Given the description of an element on the screen output the (x, y) to click on. 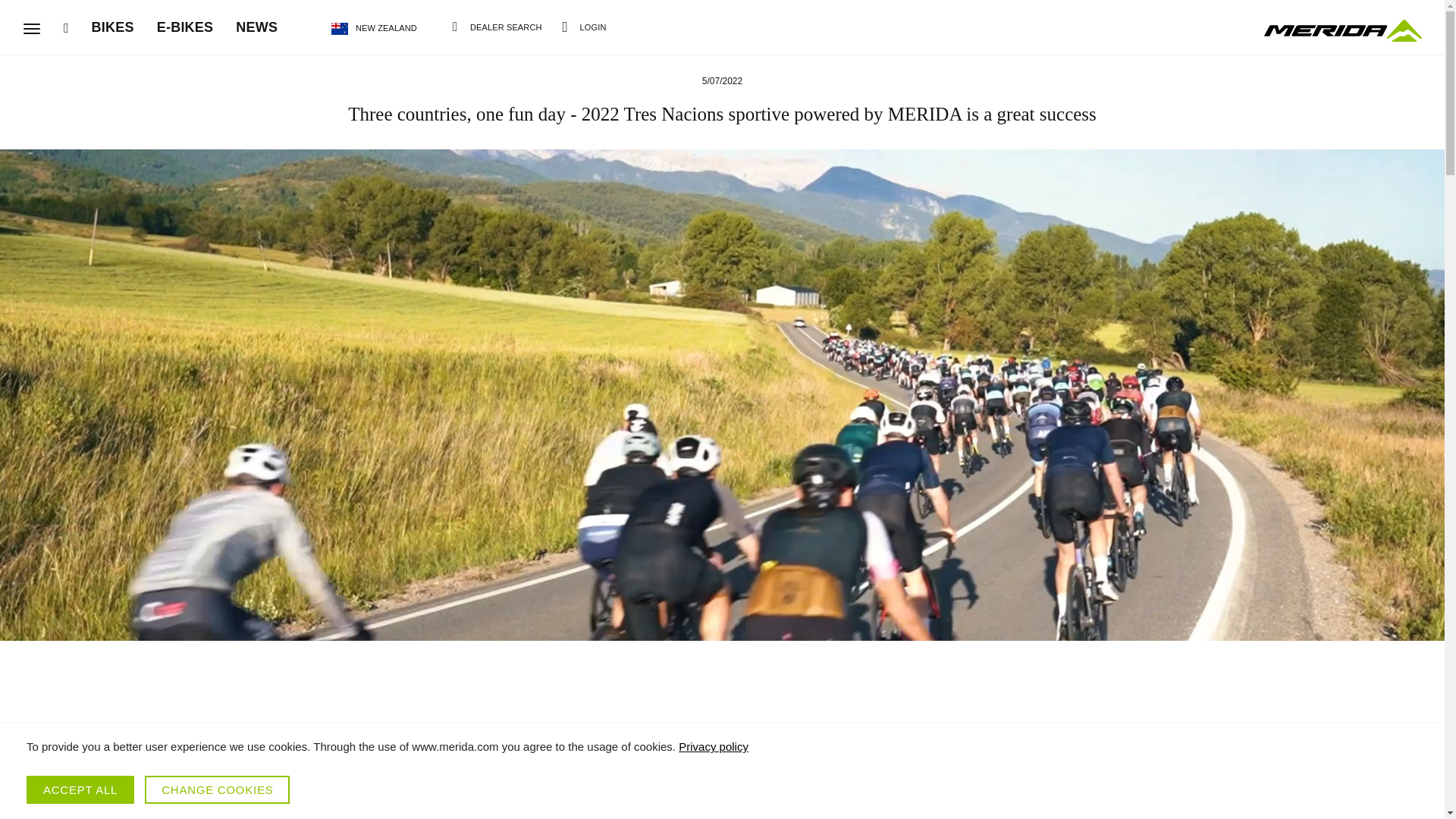
Toggle navigation (31, 28)
